Given the description of an element on the screen output the (x, y) to click on. 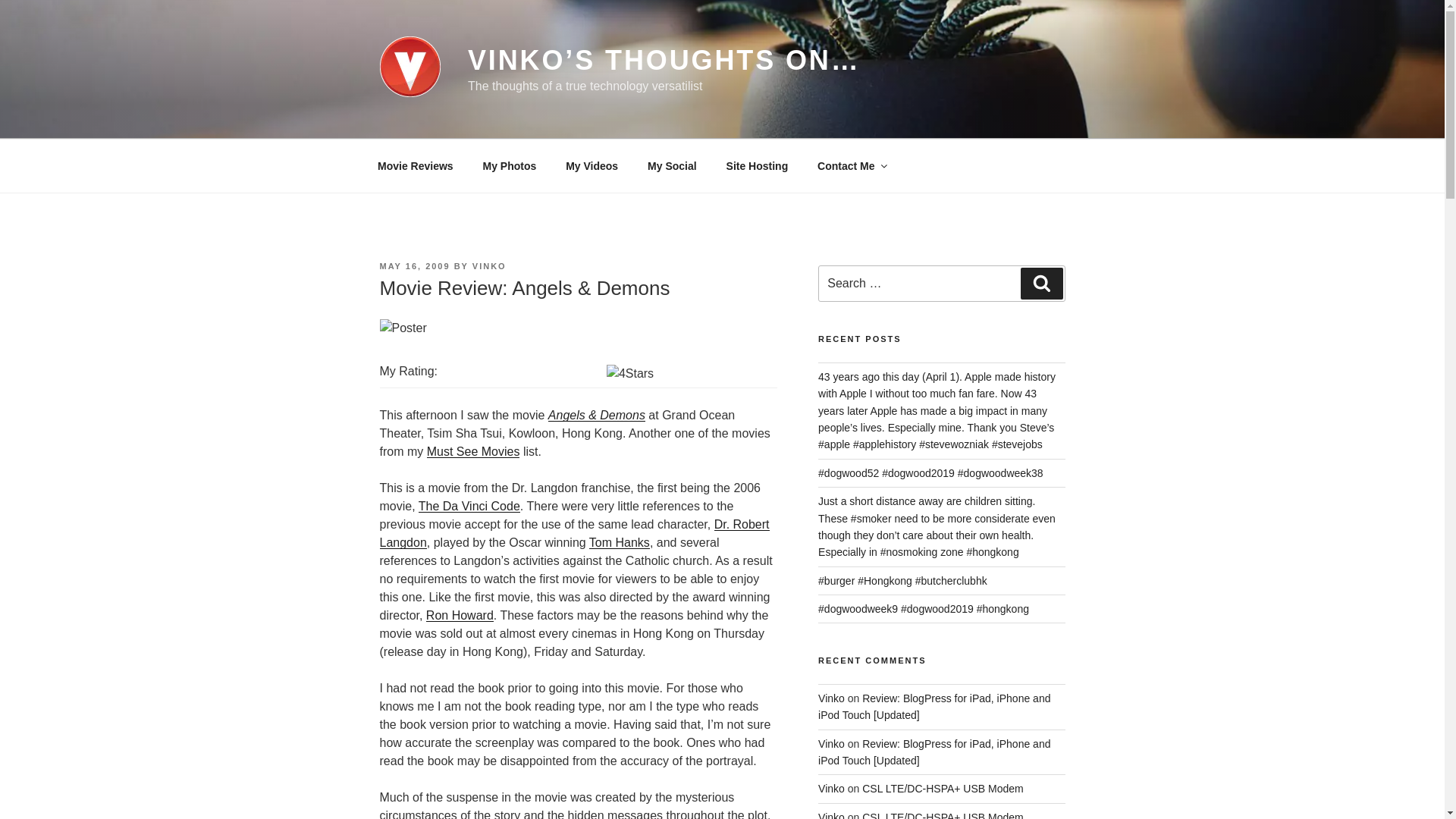
My Social (672, 165)
The Da Vinci Code (469, 505)
MAY 16, 2009 (413, 266)
Ron Howard (459, 615)
Site Hosting (757, 165)
Movie Reviews (414, 165)
VINKO (488, 266)
Dr. Robert Langdon (573, 532)
Tom Hanks (619, 542)
Must See Movies (472, 451)
Search (1041, 283)
My Photos (509, 165)
Contact Me (851, 165)
My Videos (592, 165)
